Given the description of an element on the screen output the (x, y) to click on. 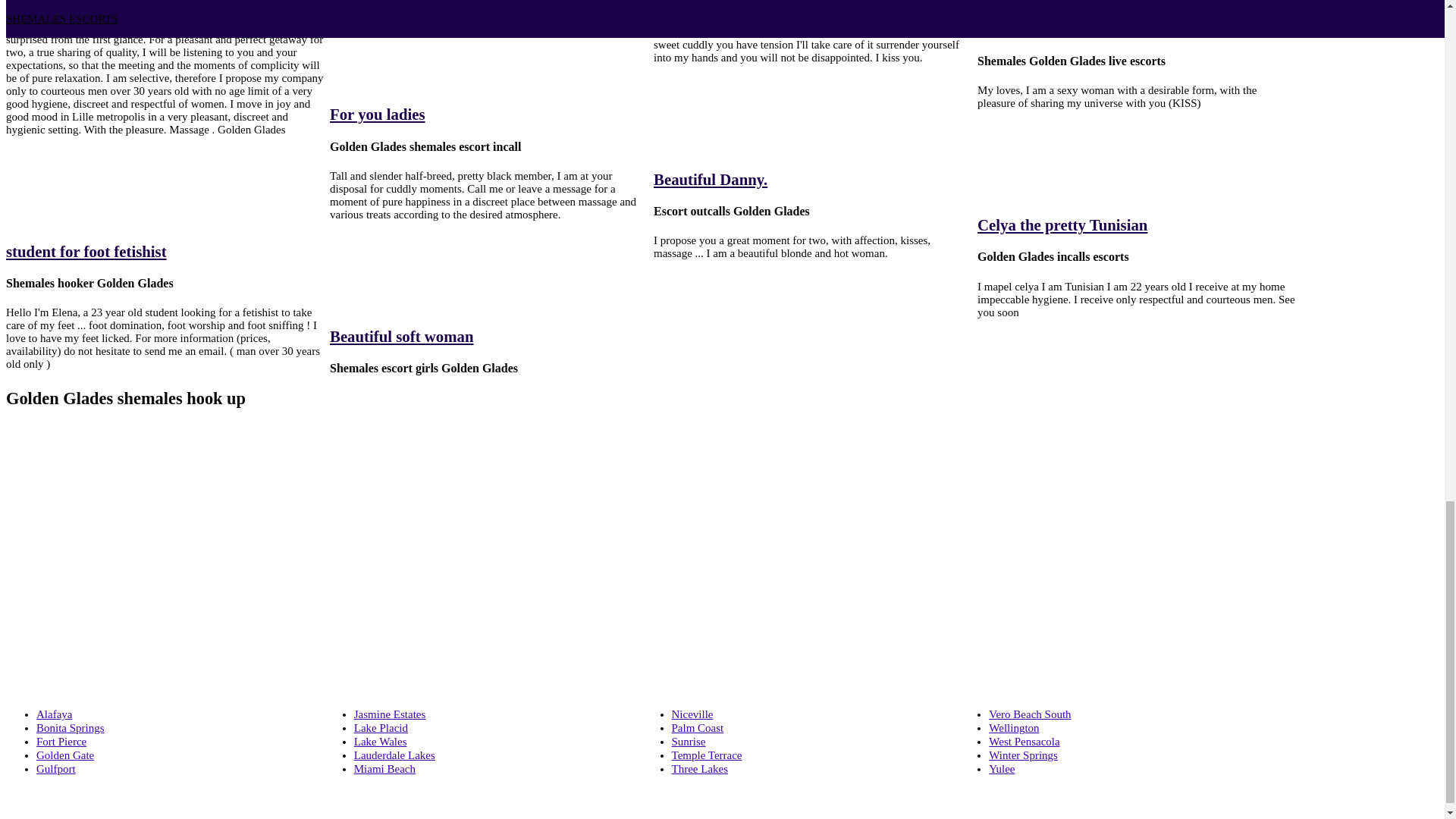
Beautiful soft woman (402, 335)
student for foot fetishist (86, 251)
For you ladies (377, 113)
Beautiful Danny. (710, 179)
